Given the description of an element on the screen output the (x, y) to click on. 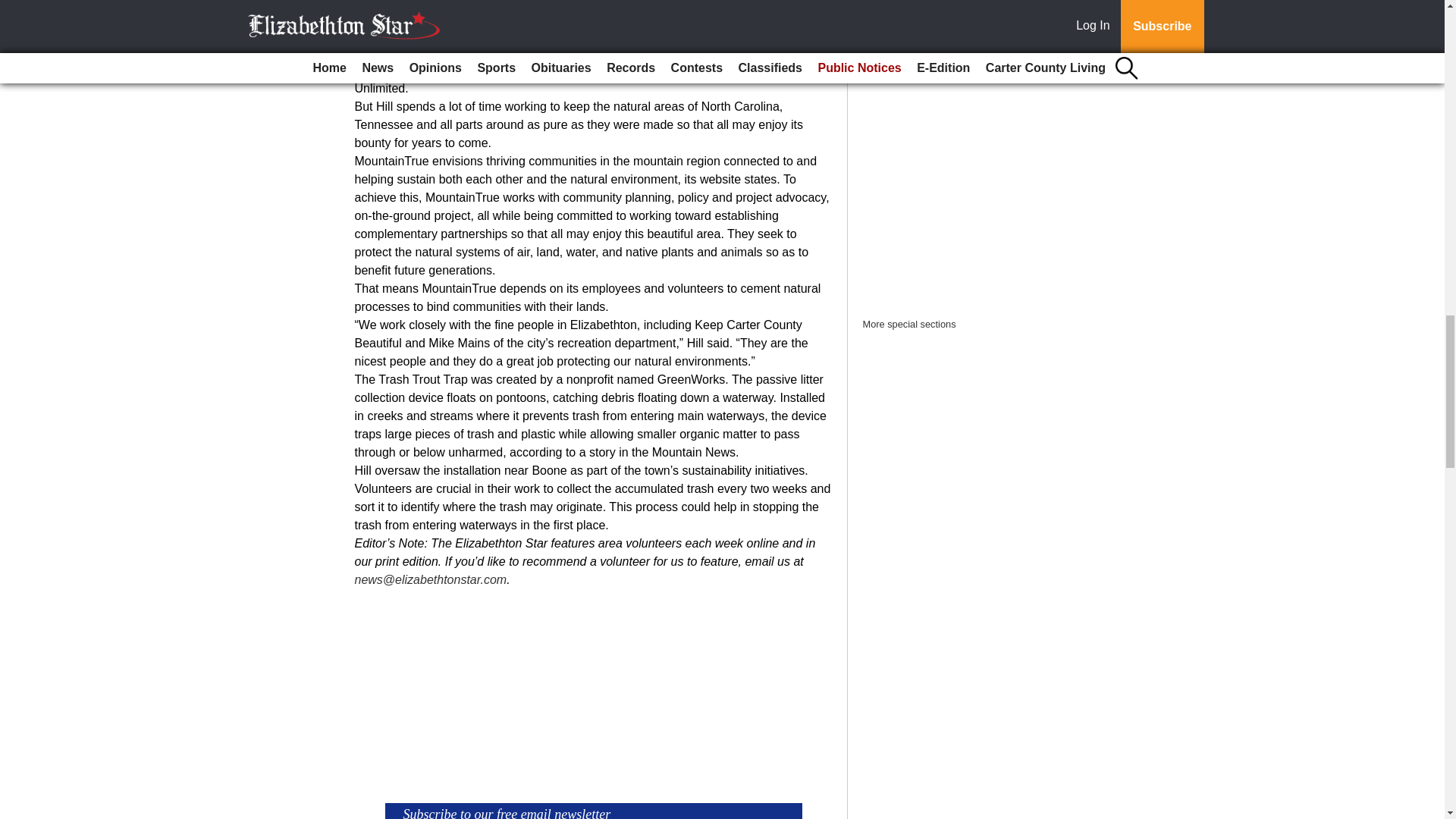
More special sections (909, 324)
